Given the description of an element on the screen output the (x, y) to click on. 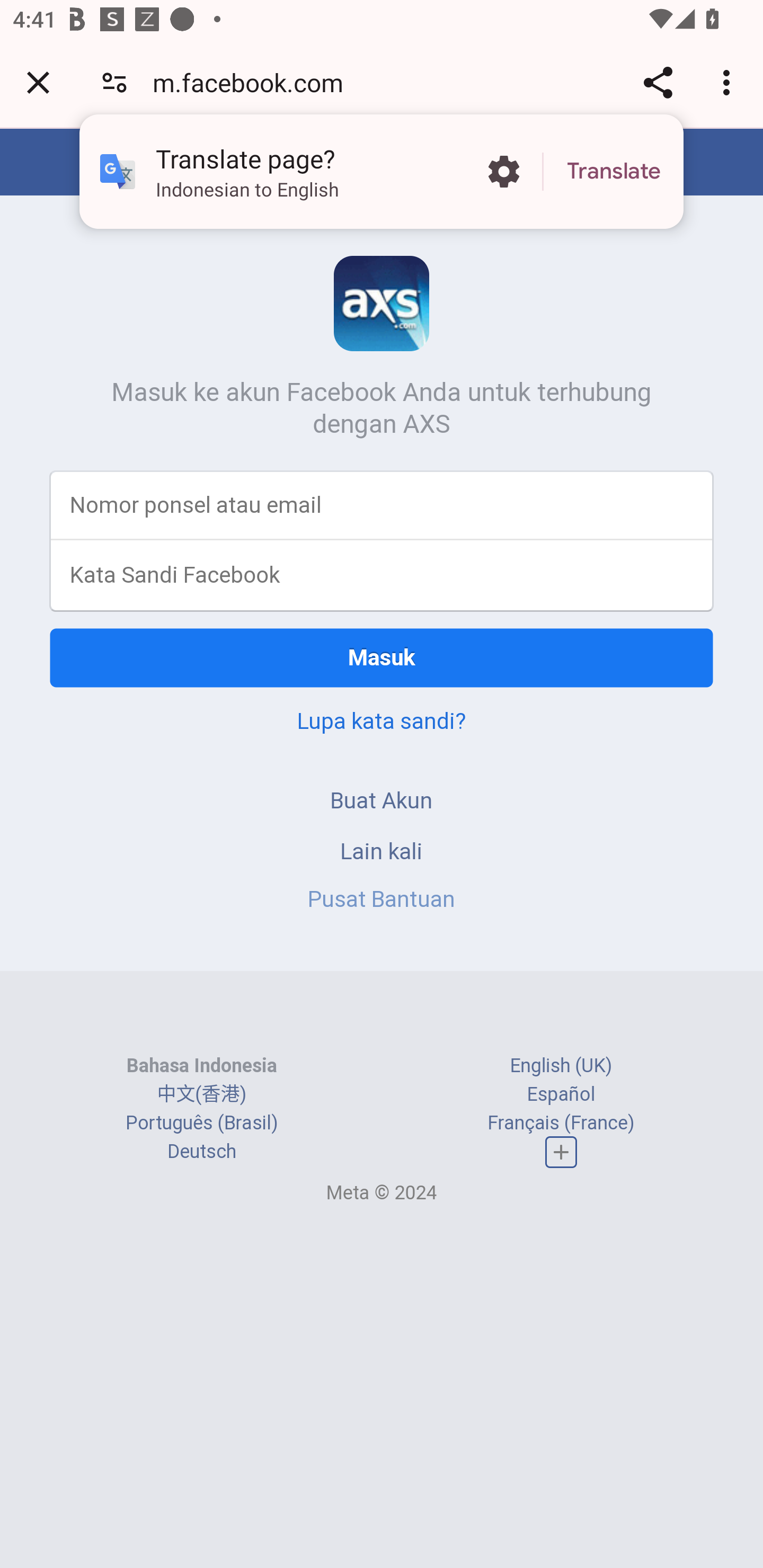
Close tab (38, 82)
Share (657, 82)
Customize and control Google Chrome (729, 82)
Connection is secure (114, 81)
m.facebook.com (254, 81)
Translate (613, 171)
More options in the Translate page? (503, 171)
Masuk (381, 657)
Lupa kata sandi? (381, 720)
Buat Akun (381, 800)
Lain kali (381, 850)
Pusat Bantuan (381, 898)
English (UK) (560, 1065)
中文(香港) (201, 1093)
Español (560, 1093)
Português (Brasil) (201, 1122)
Français (France) (560, 1122)
Daftar bahasa lengkap (560, 1152)
Deutsch (201, 1151)
